Given the description of an element on the screen output the (x, y) to click on. 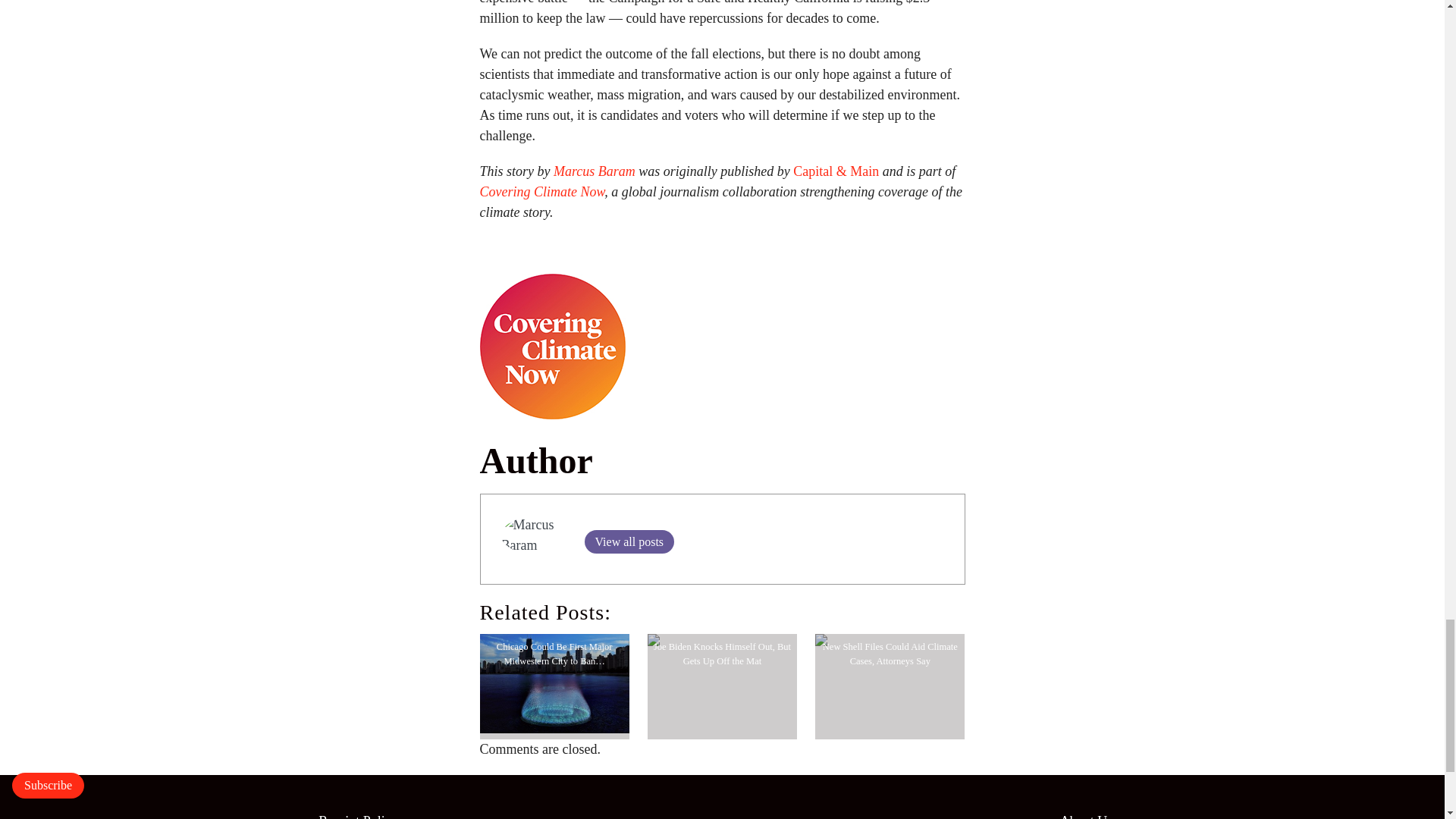
Joe Biden Knocks Himself Out, But Gets Up Off the Mat (721, 653)
View all posts (628, 541)
New Shell Files Could Aid Climate Cases, Attorneys Say (889, 653)
